Given the description of an element on the screen output the (x, y) to click on. 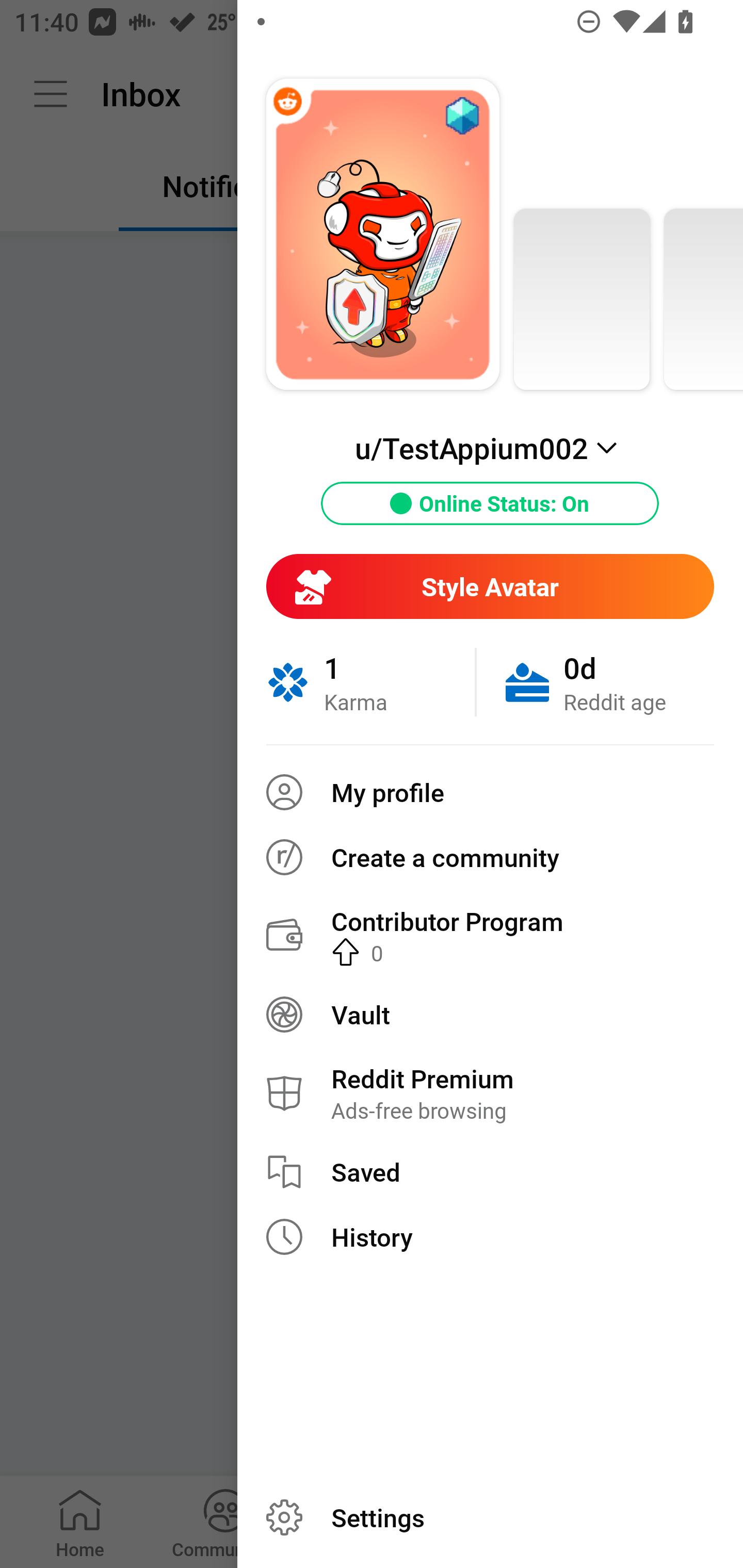
u/TestAppium002 (489, 447)
Online Status: On (489, 503)
Style Avatar (489, 586)
1 Karma 1 Karma (369, 681)
My profile (490, 792)
Create a community (490, 856)
Contributor Program Contributor Program 0 (490, 935)
Vault (490, 1014)
Saved (490, 1171)
History (490, 1237)
Settings (490, 1517)
